Given the description of an element on the screen output the (x, y) to click on. 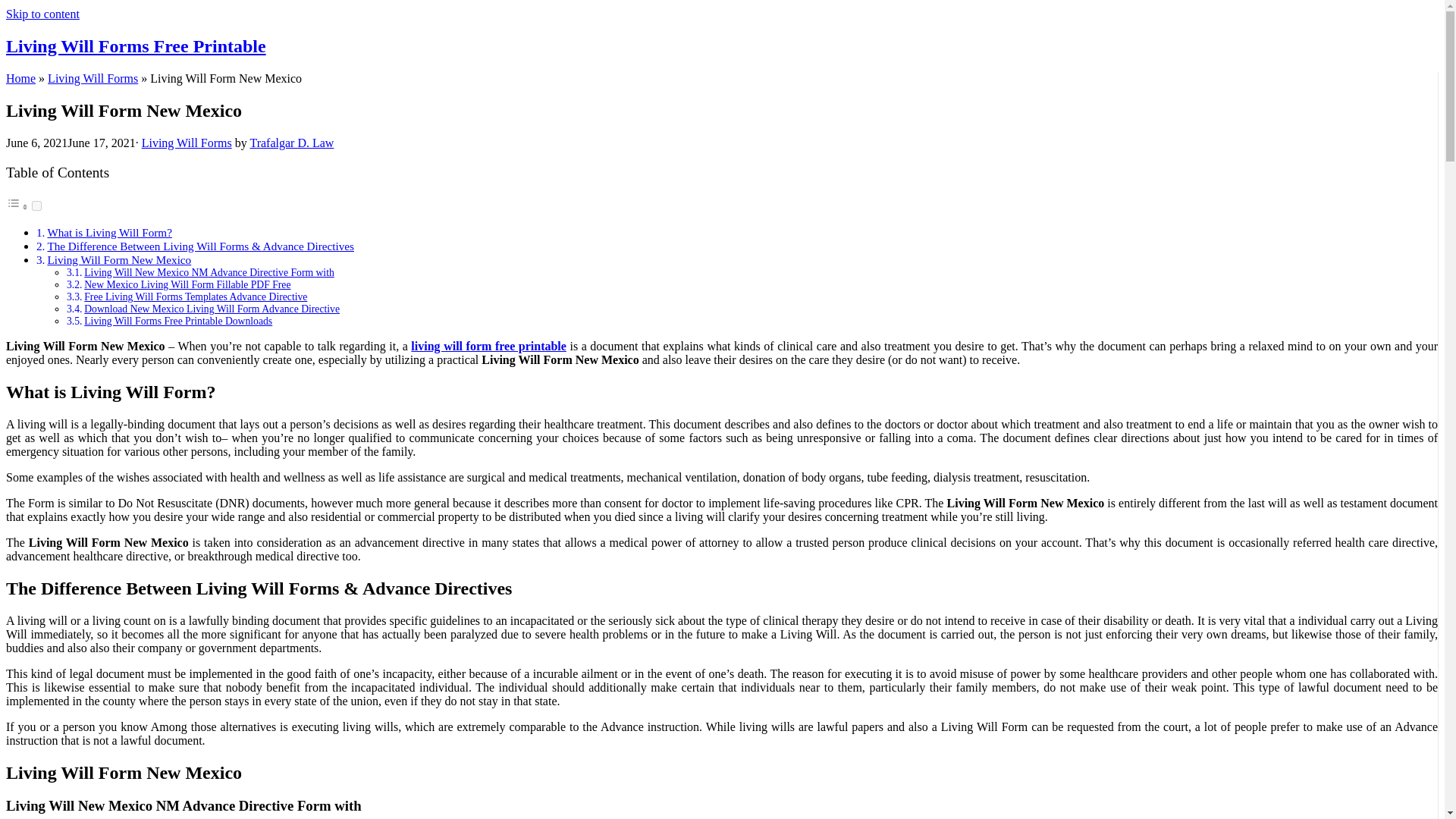
Living Will Forms Free Printable Downloads (178, 320)
Home (19, 78)
Living Will Forms Free Printable Downloads (178, 320)
Living Will New Mexico NM Advance Directive Form with (209, 272)
Living Will Forms (93, 78)
New Mexico Living Will Form Fillable PDF Free (186, 284)
Living Will Forms Free Printable (135, 46)
Download New Mexico Living Will Form Advance Directive (211, 308)
Free Living Will Forms Templates Advance Directive (195, 296)
What is Living Will Form? (108, 232)
living will form free printable (488, 345)
Skip to content (42, 13)
Download New Mexico Living Will Form Advance Directive (211, 308)
New Mexico Living Will Form Fillable PDF Free (186, 284)
on (37, 205)
